Given the description of an element on the screen output the (x, y) to click on. 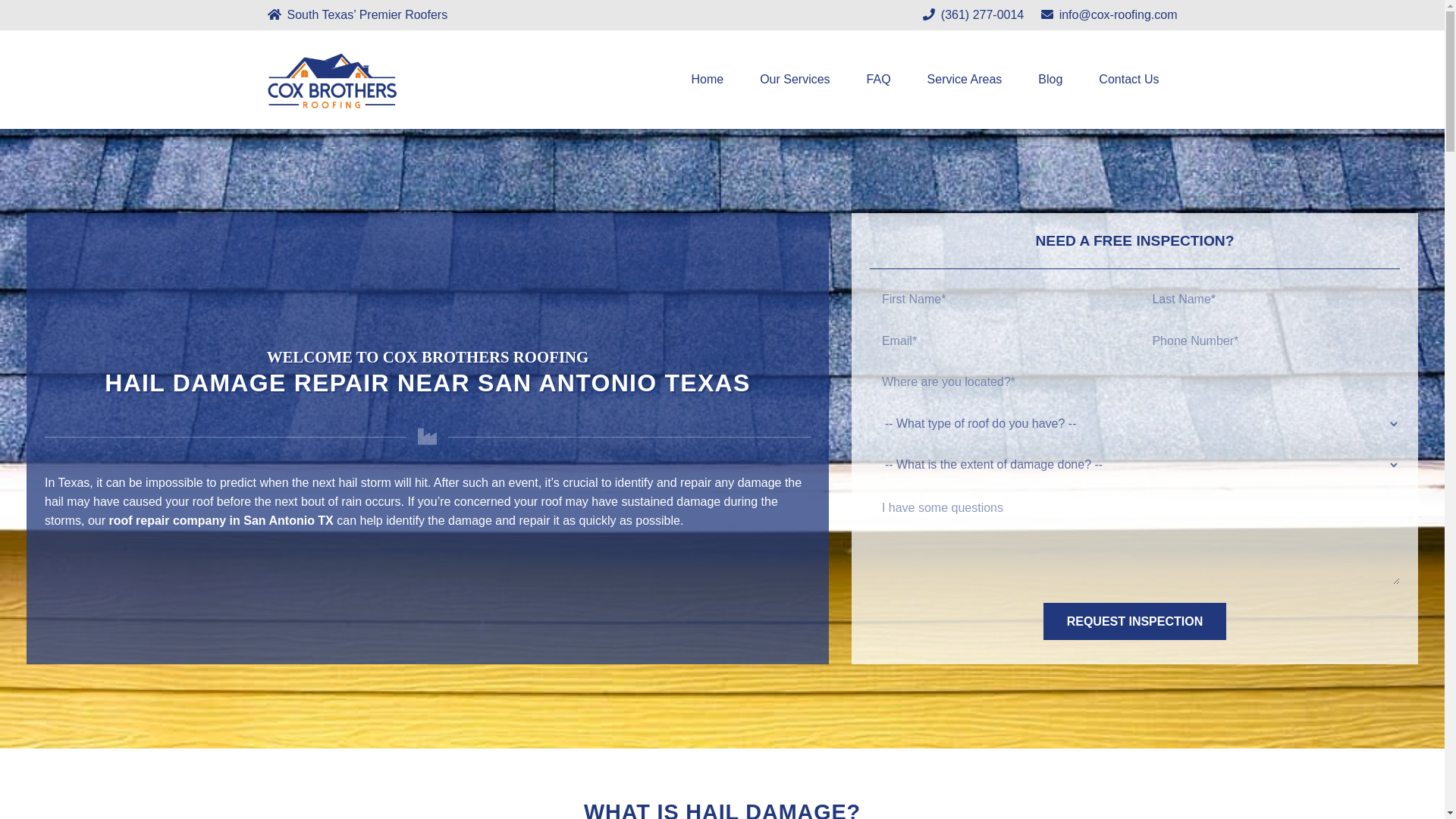
roof repair company in San Antonio TX (220, 520)
FAQ (878, 79)
Our Services (794, 79)
REQUEST INSPECTION (1134, 620)
Blog (1050, 79)
Home (706, 79)
Contact Us (1128, 79)
Service Areas (964, 79)
REQUEST INSPECTION (1134, 620)
